Given the description of an element on the screen output the (x, y) to click on. 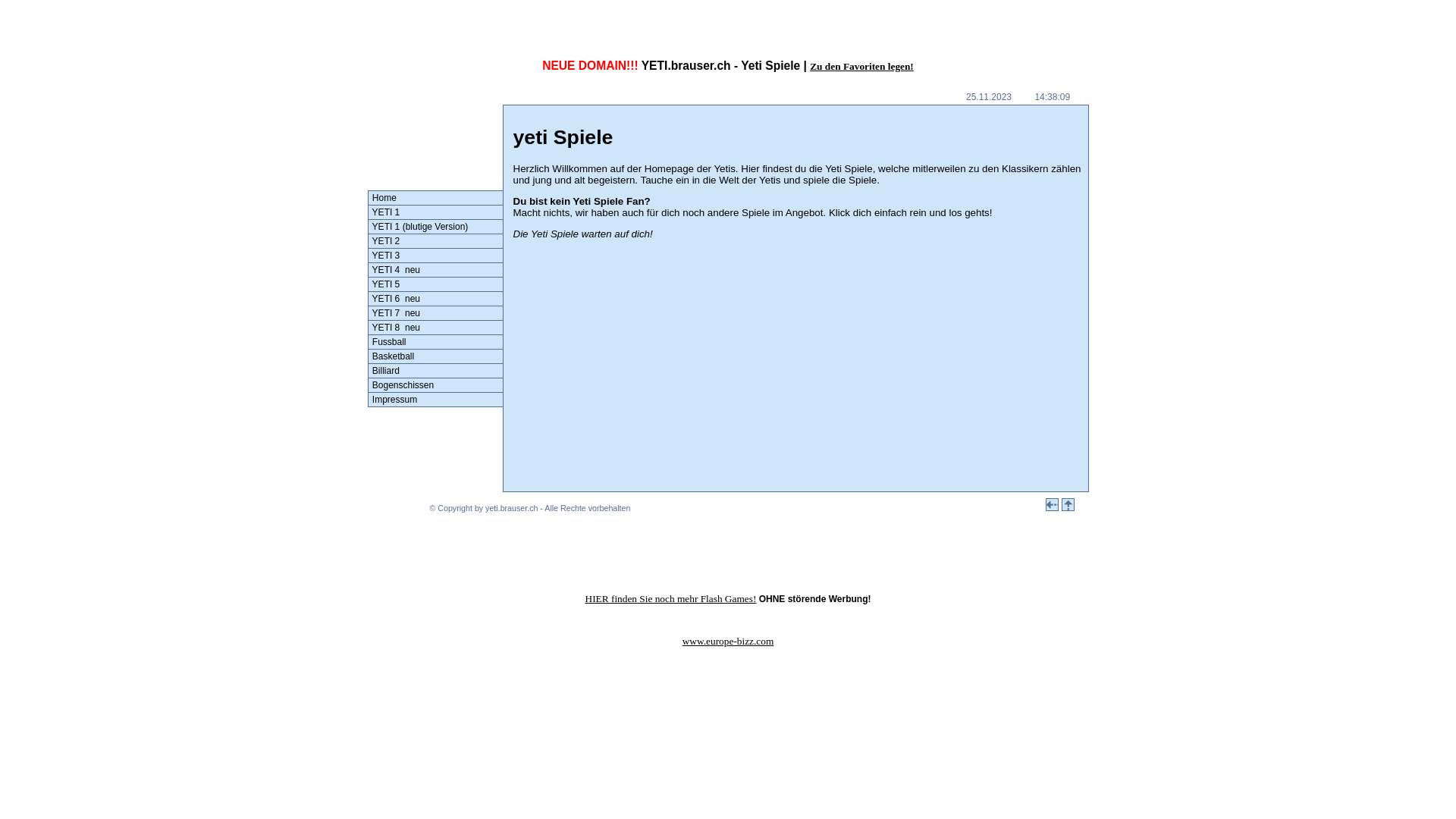
www.europe-bizz.com Element type: text (728, 640)
HIER finden Sie noch mehr Flash Games! Element type: text (670, 598)
Zu den Favoriten legen! Element type: text (861, 66)
Nach oben Element type: hover (1067, 504)
